Given the description of an element on the screen output the (x, y) to click on. 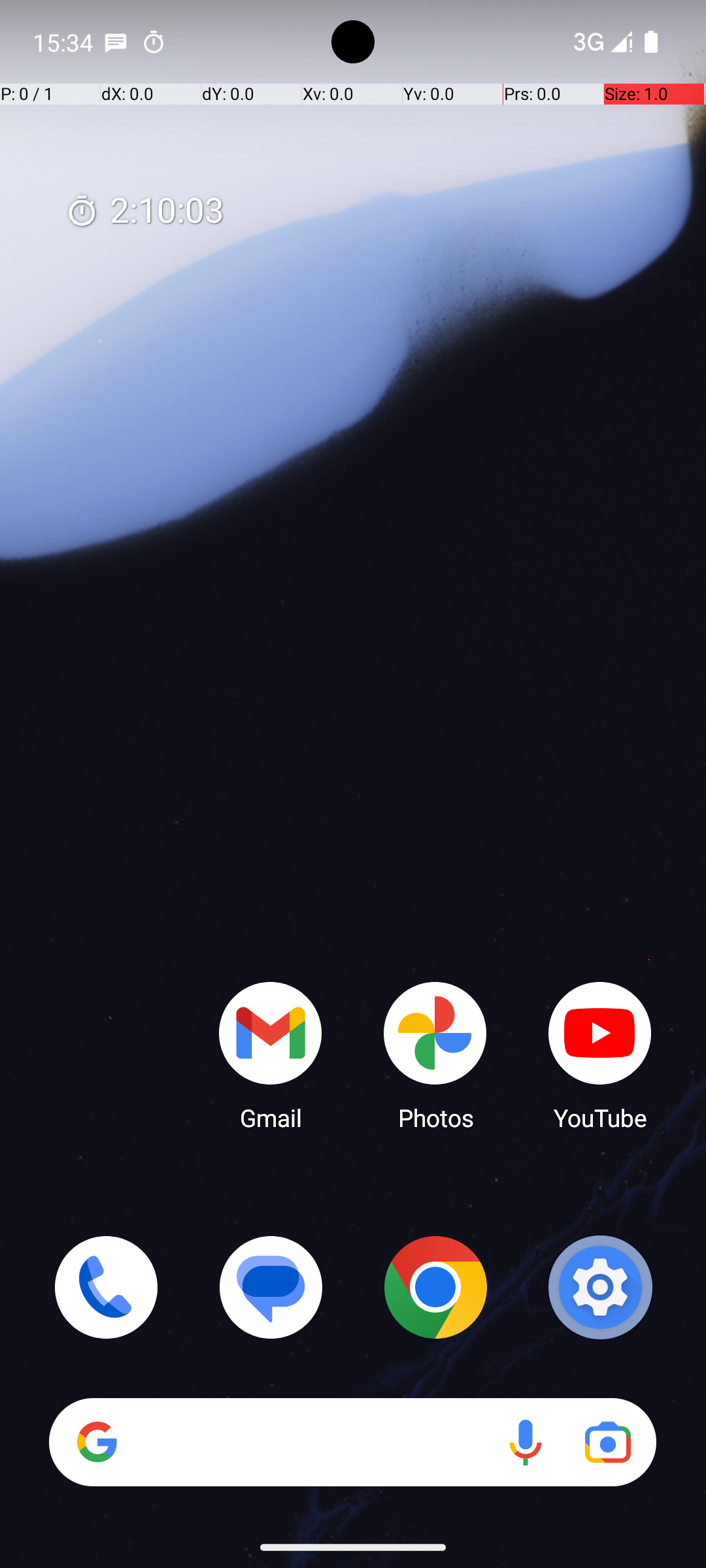
2:10:03 Element type: android.widget.TextView (144, 210)
